Given the description of an element on the screen output the (x, y) to click on. 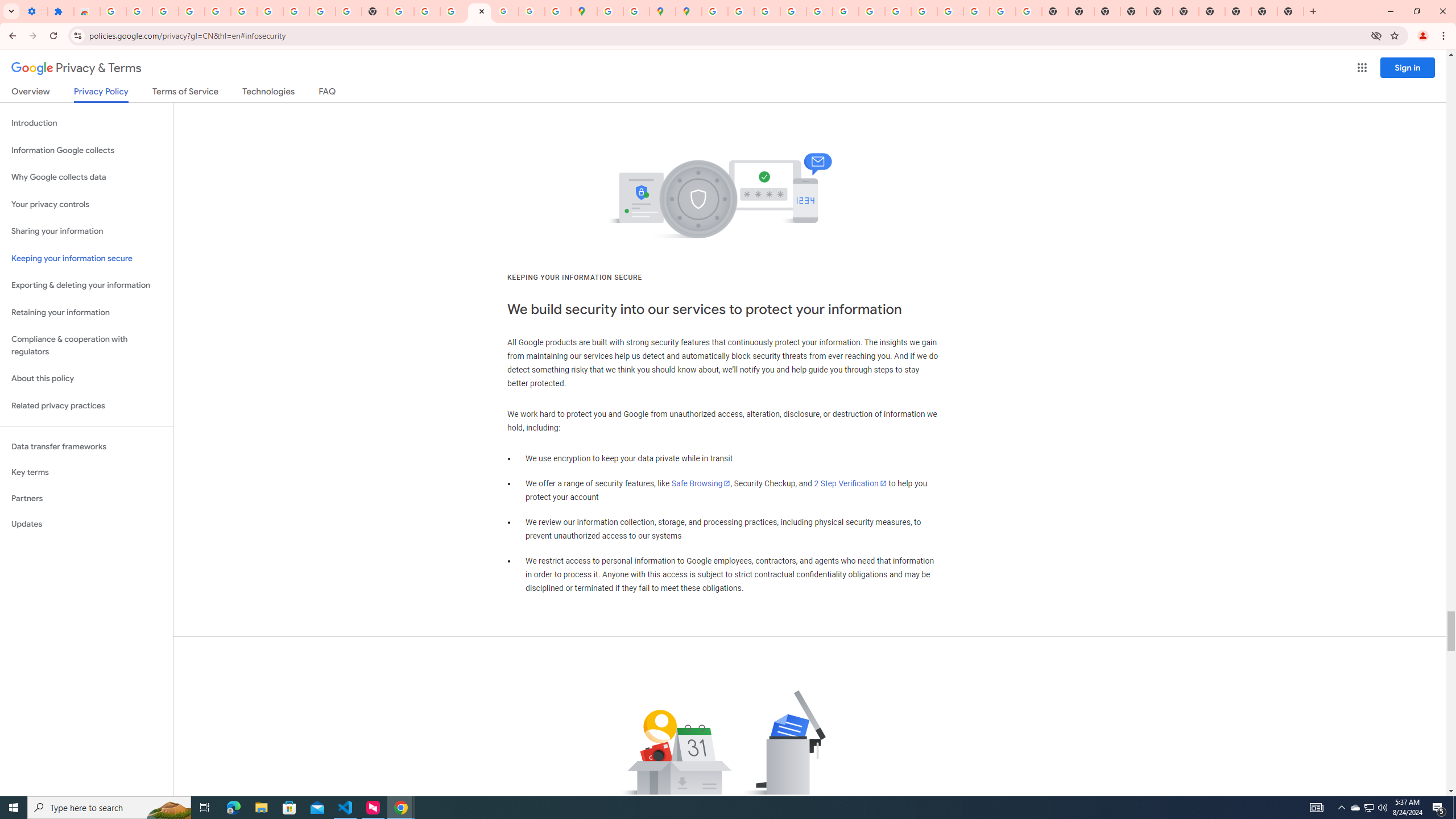
YouTube (871, 11)
Privacy Help Center - Policies Help (792, 11)
Safety in Our Products - Google Safety Center (636, 11)
https://scholar.google.com/ (400, 11)
